Given the description of an element on the screen output the (x, y) to click on. 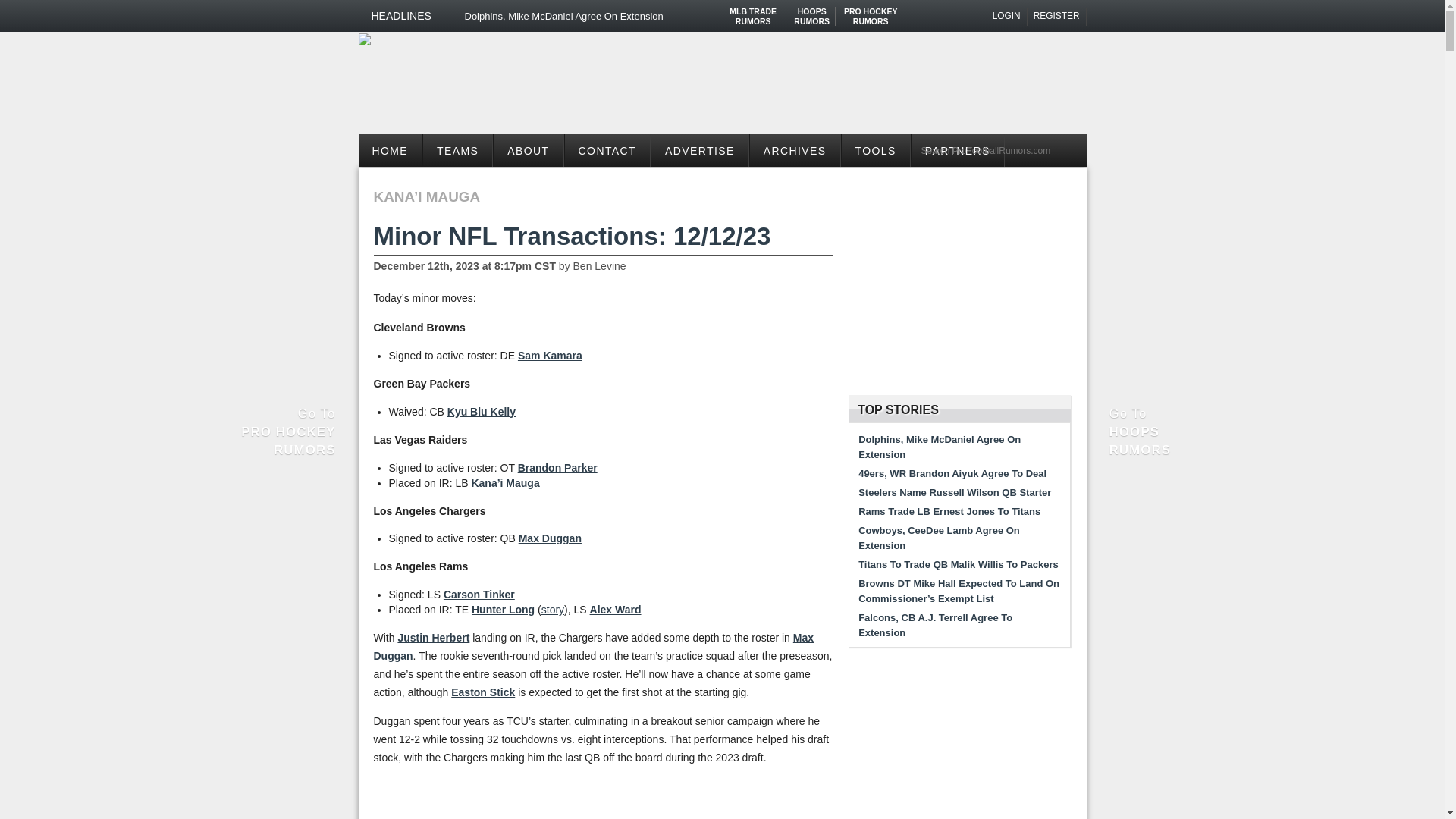
HOME (390, 150)
Pro Football Rumors (363, 38)
Dolphins, Mike McDaniel Agree On Extension (610, 16)
REGISTER (1056, 16)
TEAMS (870, 11)
LOGIN (457, 150)
